Given the description of an element on the screen output the (x, y) to click on. 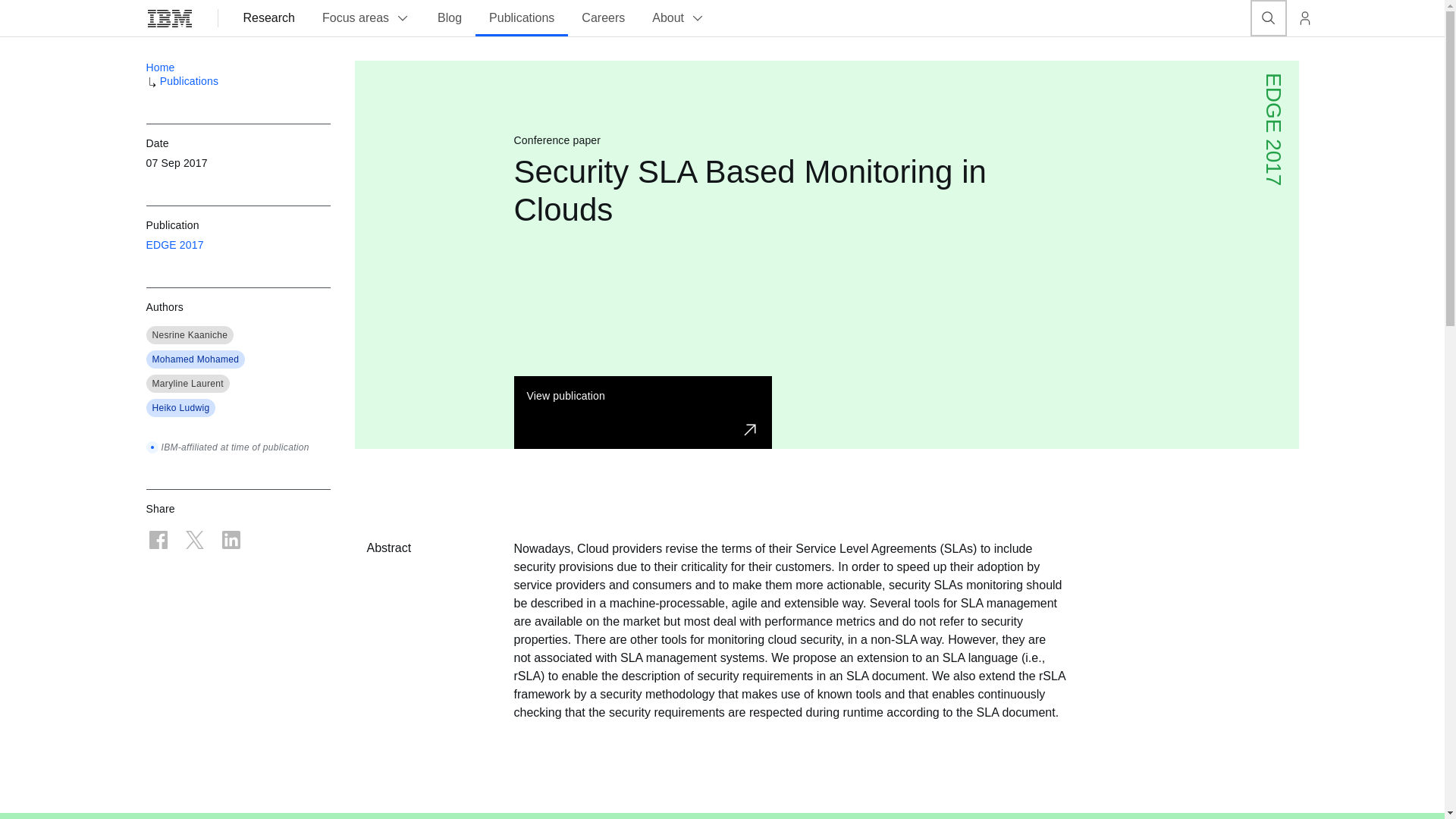
Heiko Ludwig (180, 408)
Mohamed Mohamed (194, 358)
Nesrine Kaaniche (189, 335)
Maryline Laurent (187, 383)
